Given the description of an element on the screen output the (x, y) to click on. 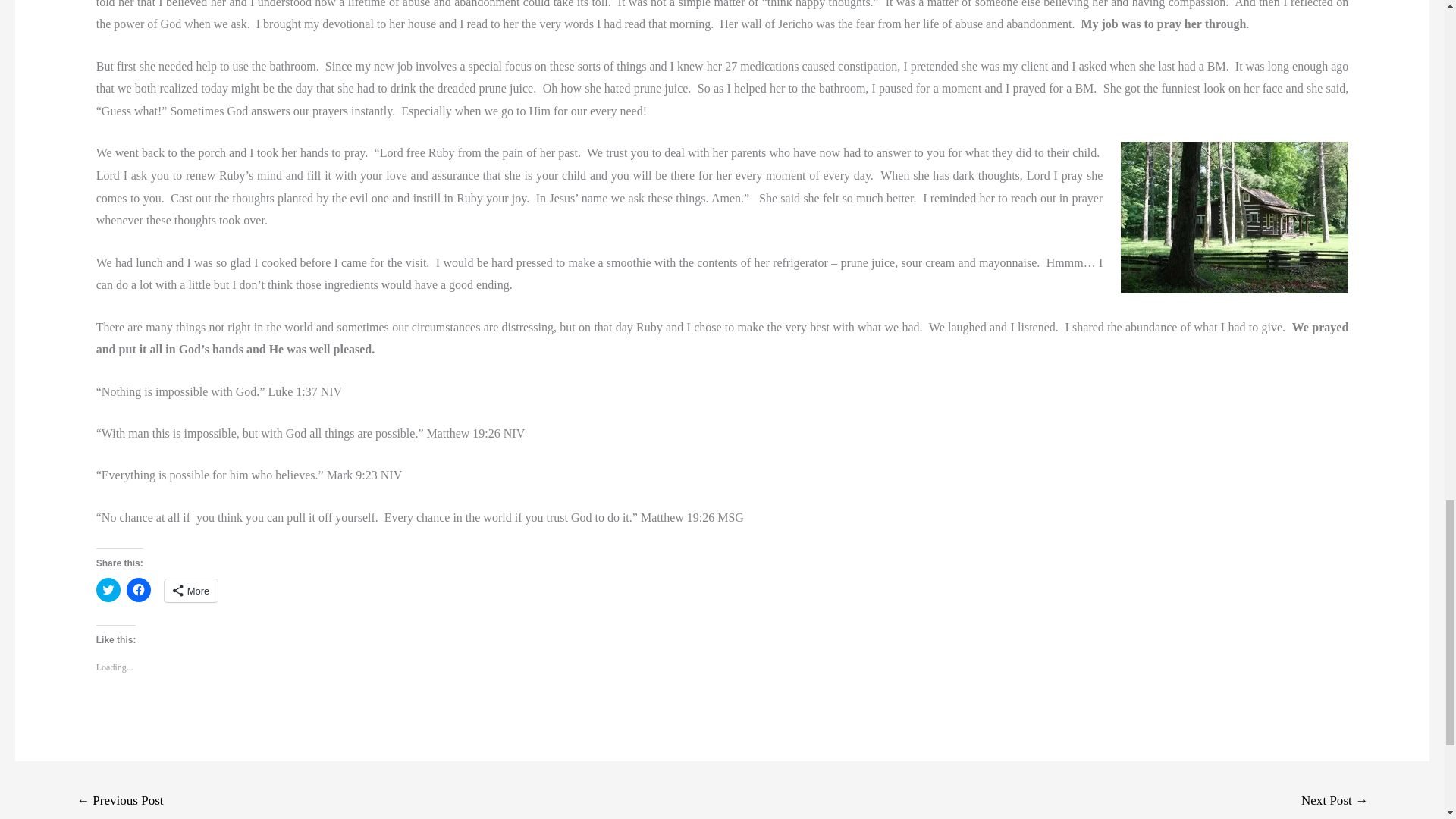
Click to share on Twitter (108, 589)
More (191, 590)
Click to share on Facebook (138, 589)
